Given the description of an element on the screen output the (x, y) to click on. 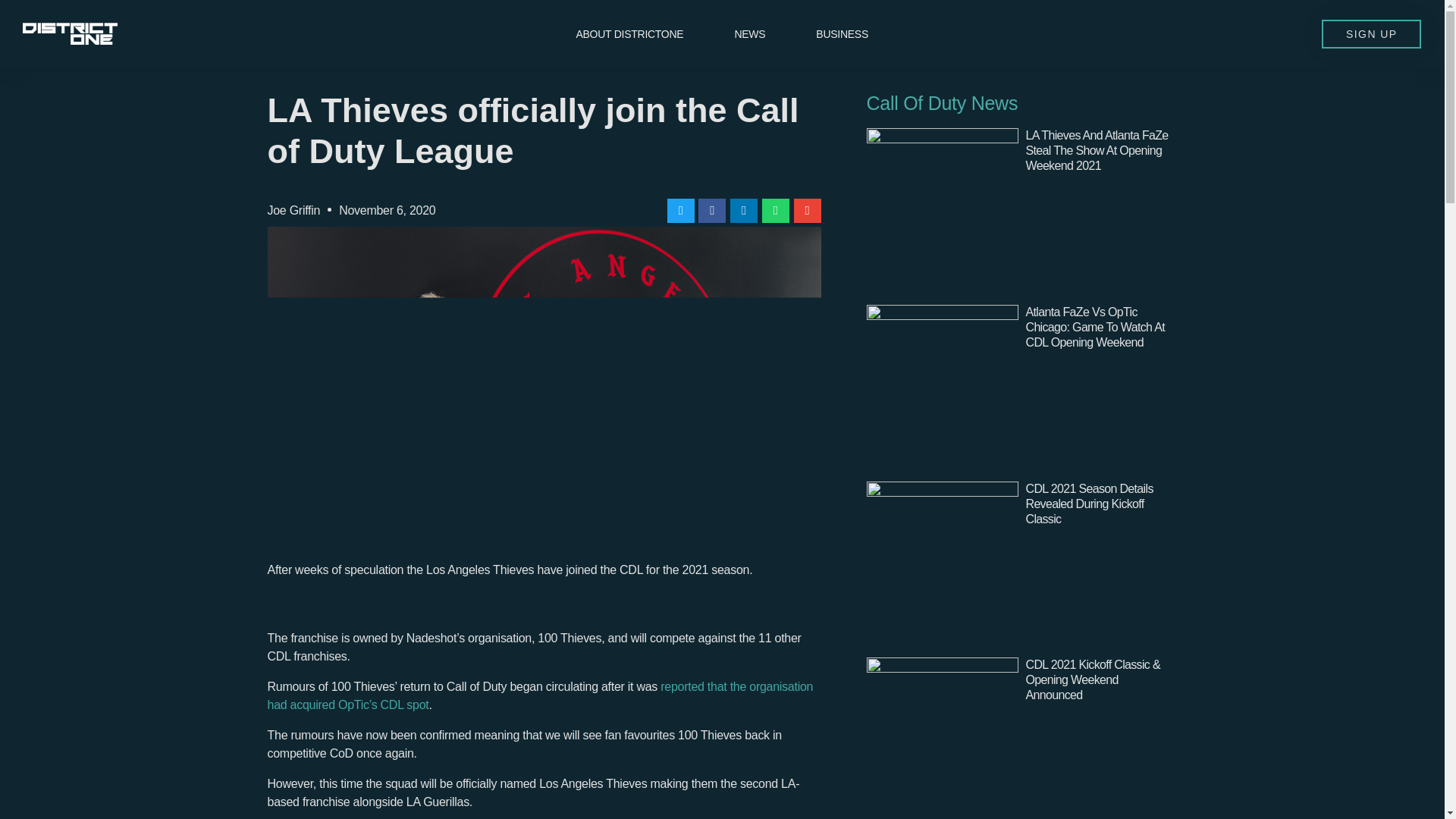
November 6, 2020 (387, 210)
Call Of Duty (916, 102)
NEWS (749, 33)
BUSINESS (841, 33)
ABOUT DISTRICTONE (629, 33)
Joe Griffin (293, 210)
SIGN UP (1371, 33)
